Given the description of an element on the screen output the (x, y) to click on. 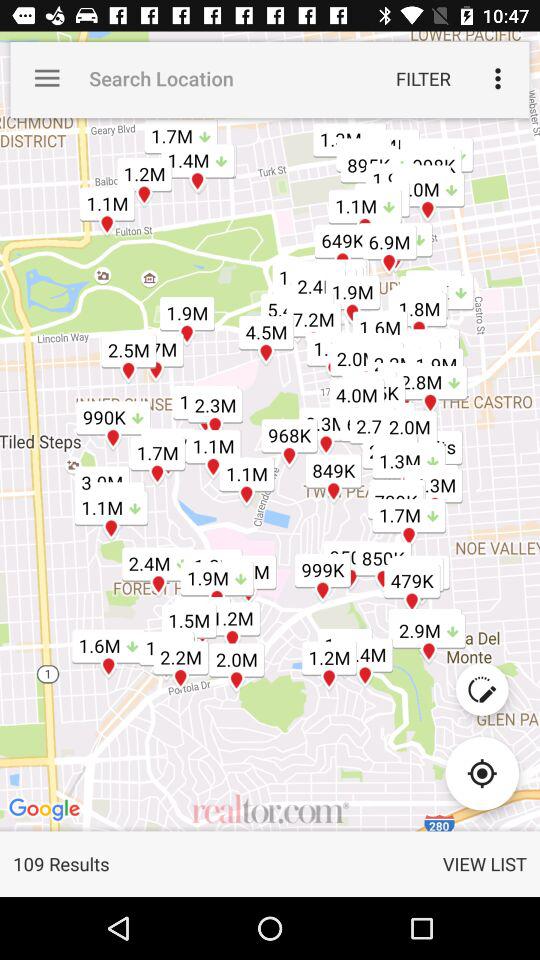
click icon to the right of filter icon (497, 78)
